Given the description of an element on the screen output the (x, y) to click on. 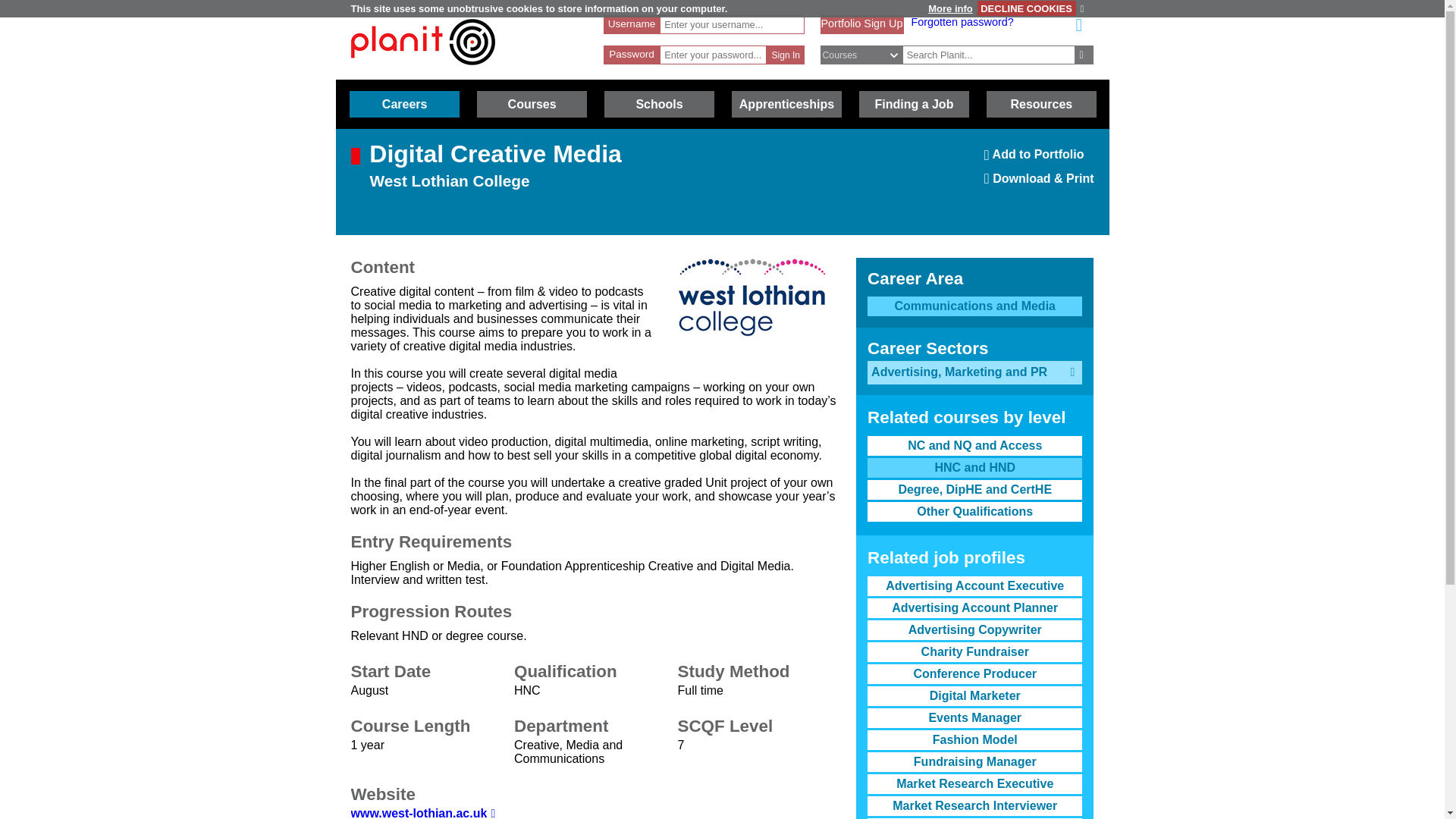
Portfolio Sign Up (861, 23)
Select search type (869, 54)
Resources (1041, 103)
Careers (404, 103)
Sign In (786, 54)
Portfolio Sign Up (861, 23)
HNC and HND (974, 467)
NC and NQ and Access (974, 445)
Planit Home (422, 72)
More info (949, 8)
